Given the description of an element on the screen output the (x, y) to click on. 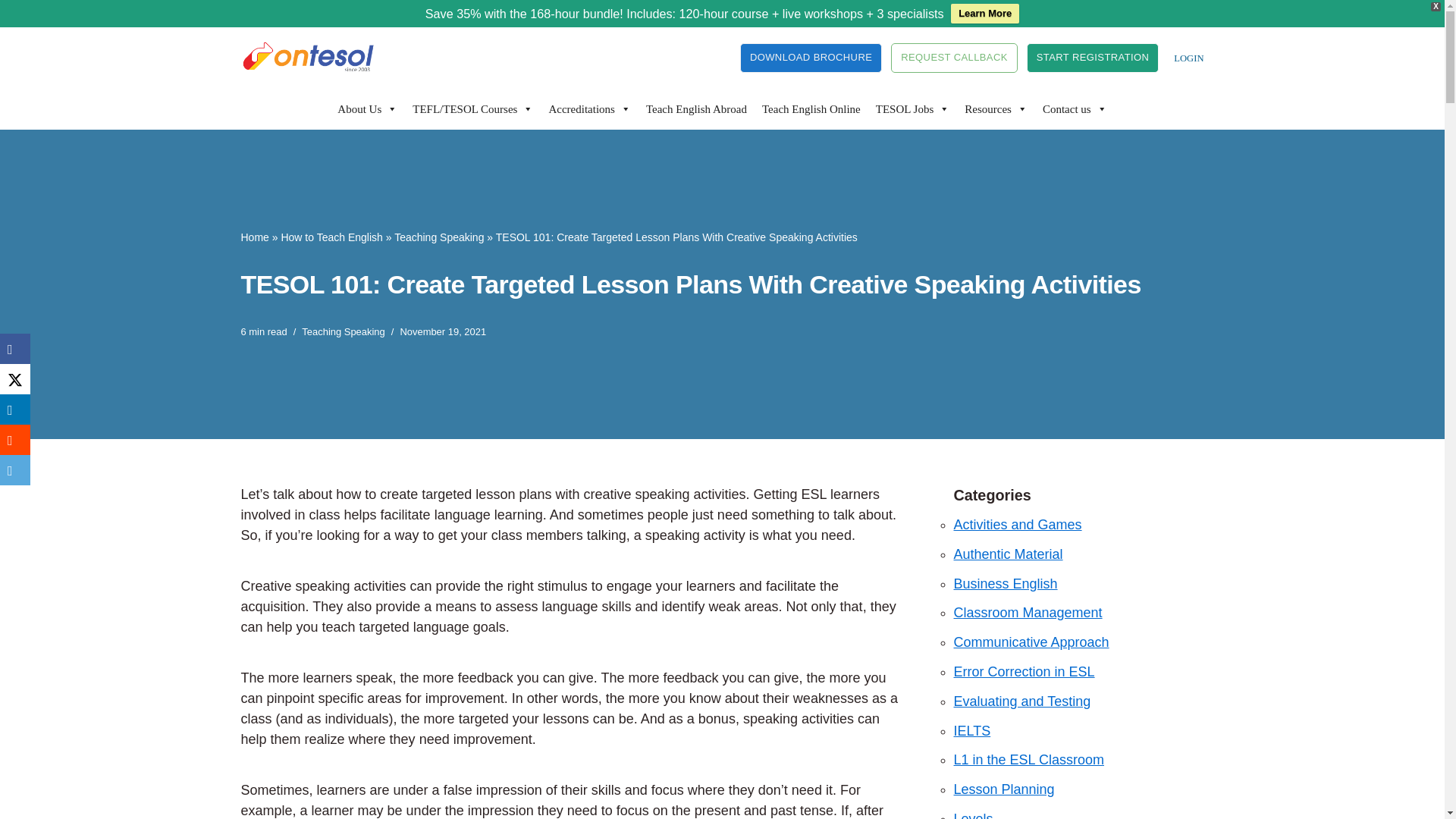
LOGIN (1188, 58)
Teach English Abroad (696, 108)
Accreditations (588, 108)
Teach English Online (810, 108)
START REGISTRATION (1092, 57)
Skip to content (11, 58)
About Us (367, 108)
DOWNLOAD BROCHURE (810, 57)
Learn More (984, 13)
REQUEST CALLBACK (954, 57)
